Given the description of an element on the screen output the (x, y) to click on. 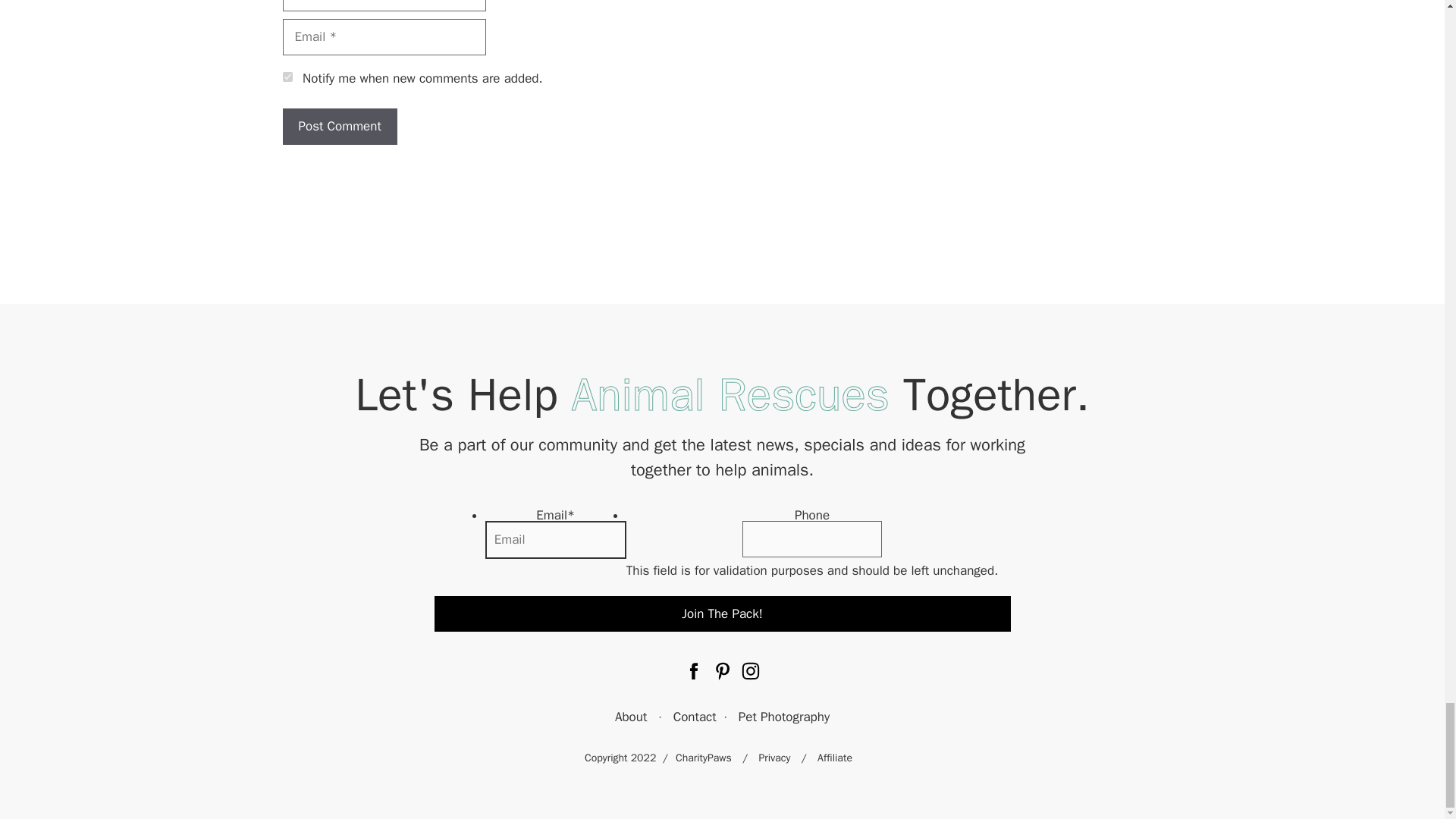
Post Comment (339, 126)
Join The Pack! (721, 614)
Pinterest (721, 675)
Post Comment (339, 126)
1 (287, 76)
Join The Pack! (721, 614)
Facebook (693, 675)
Instagram (750, 675)
